Given the description of an element on the screen output the (x, y) to click on. 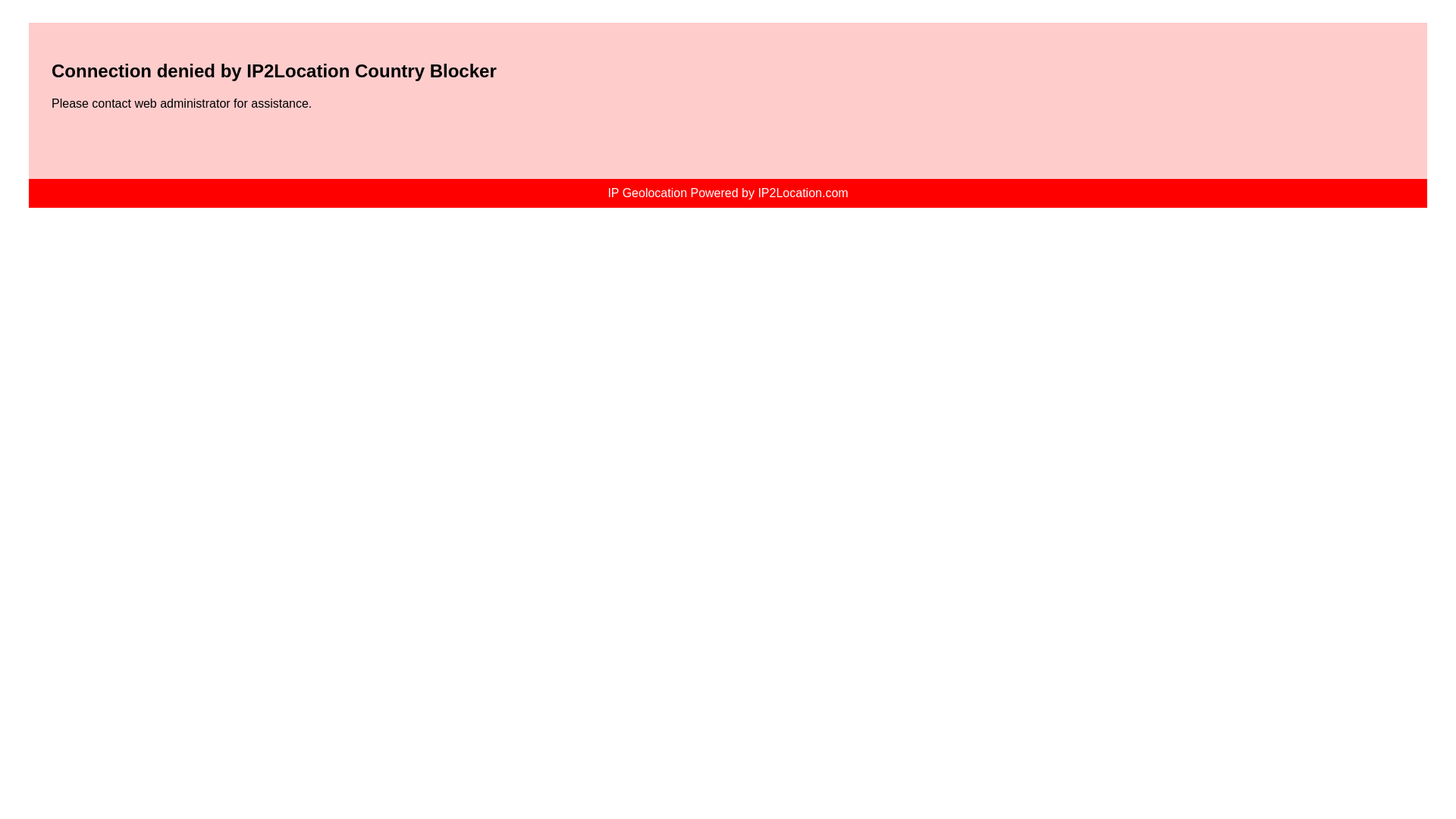
IP Geolocation Powered by IP2Location.com Element type: text (727, 192)
